Given the description of an element on the screen output the (x, y) to click on. 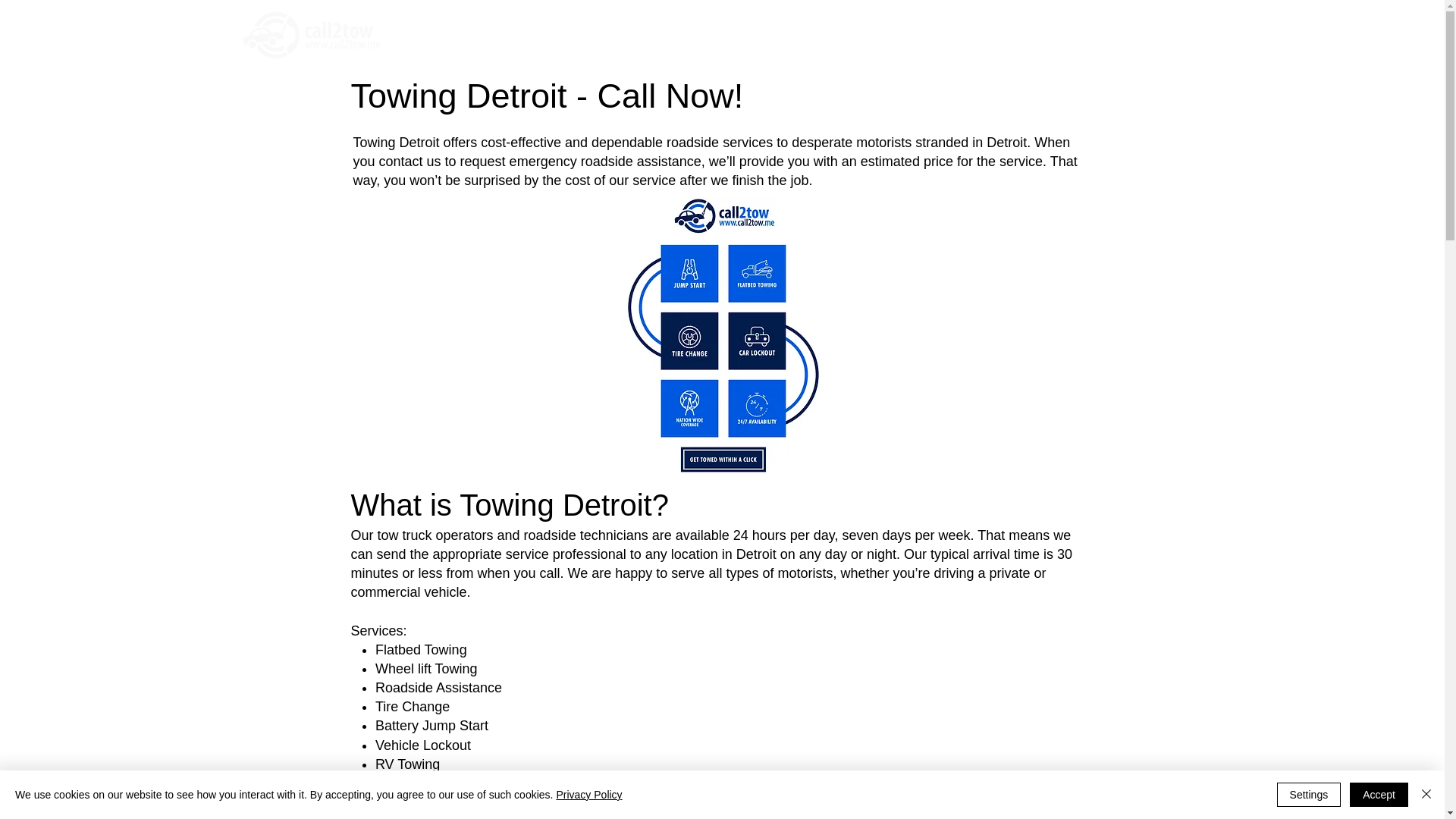
Vehicle Lockout (422, 744)
REVIEWS (974, 40)
HOW IT WORKS (839, 40)
Call2Tow (310, 35)
Roadside Assistance (438, 687)
SERVICES (1039, 40)
ABOUT (914, 40)
GET LISTED (1110, 40)
Accept (1378, 794)
HOME (766, 40)
